Given the description of an element on the screen output the (x, y) to click on. 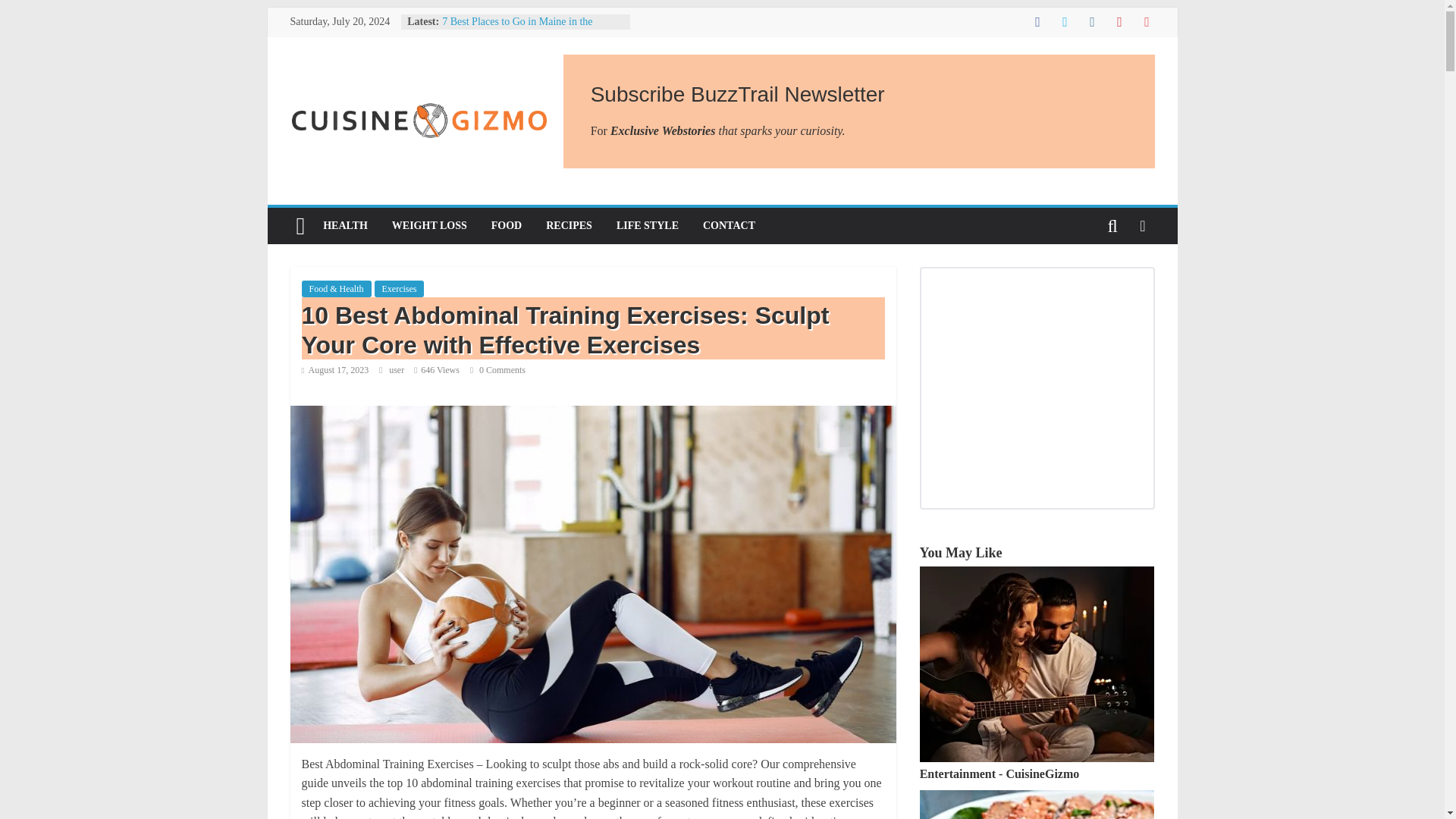
0 Comments (497, 369)
LIFE STYLE (647, 226)
user (397, 369)
August 17, 2023 (335, 369)
user (397, 369)
RECIPES (569, 226)
HEALTH (345, 226)
FOOD (506, 226)
CONTACT (728, 226)
WEIGHT LOSS (429, 226)
Exercises (399, 288)
12:10 pm (335, 369)
